Given the description of an element on the screen output the (x, y) to click on. 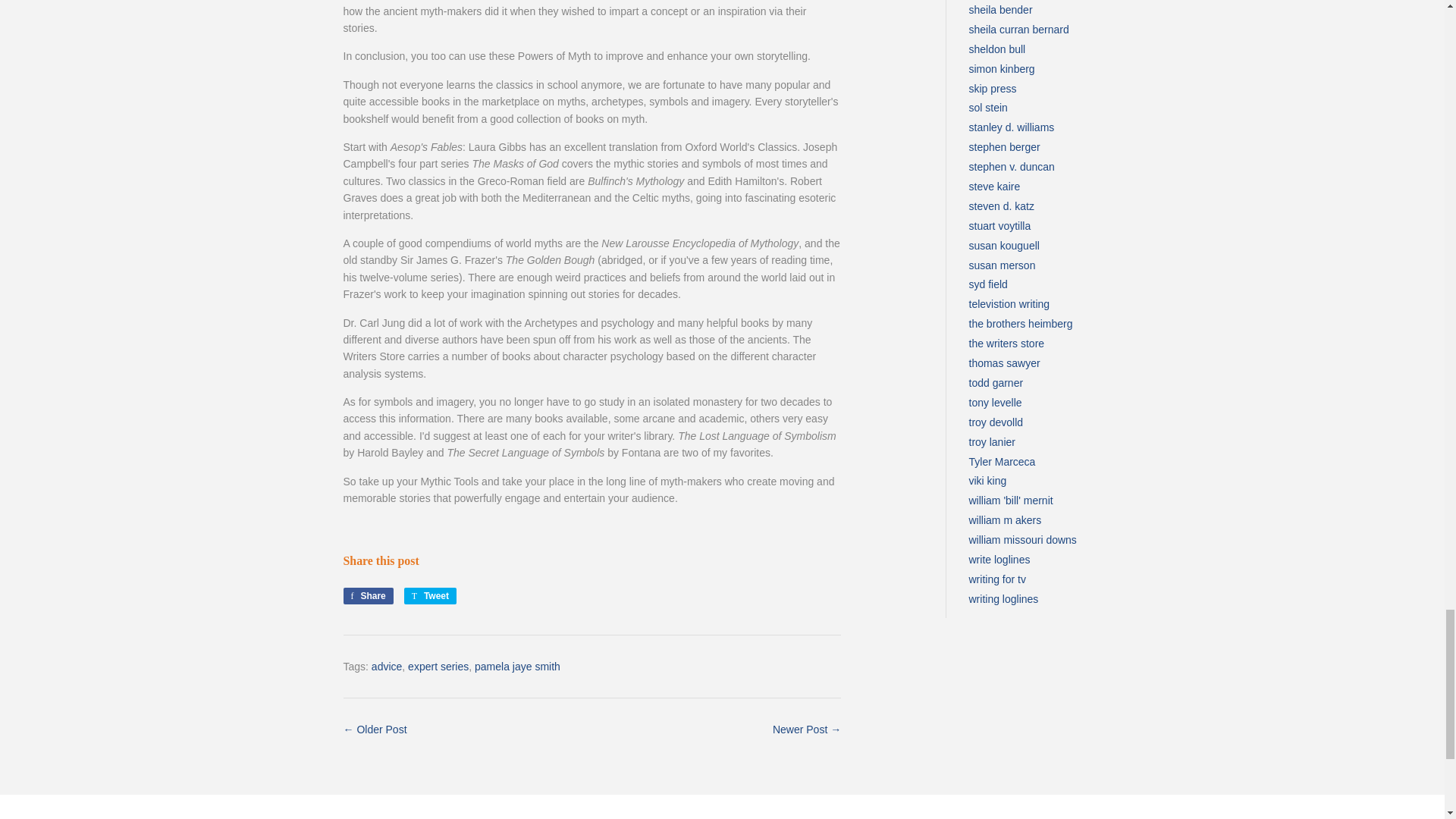
Tweet on Twitter (430, 596)
advice (386, 666)
expert series (437, 666)
Share on Facebook (367, 596)
pamela jaye smith (430, 596)
